Given the description of an element on the screen output the (x, y) to click on. 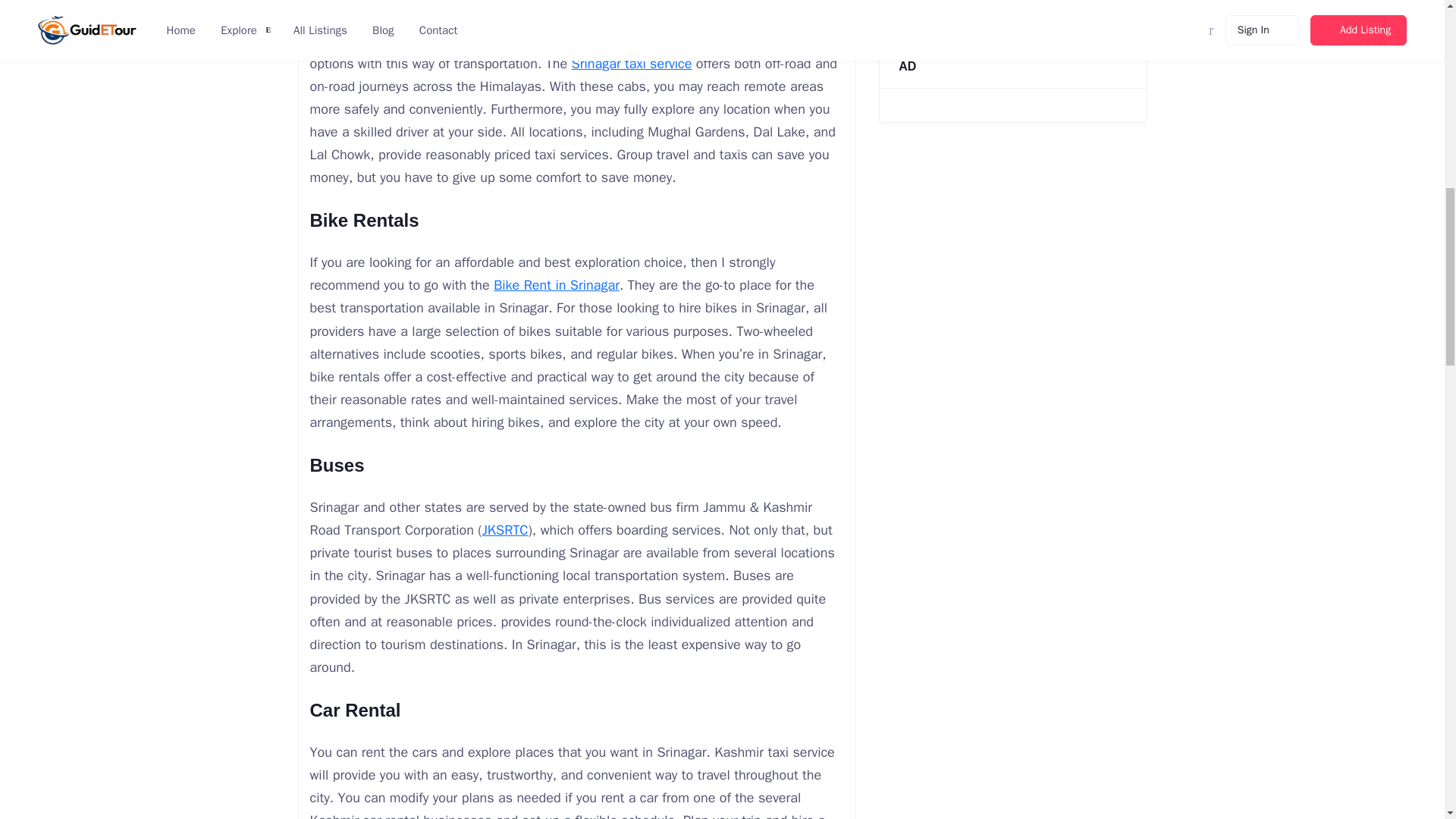
Srinagar taxi service (632, 63)
